Given the description of an element on the screen output the (x, y) to click on. 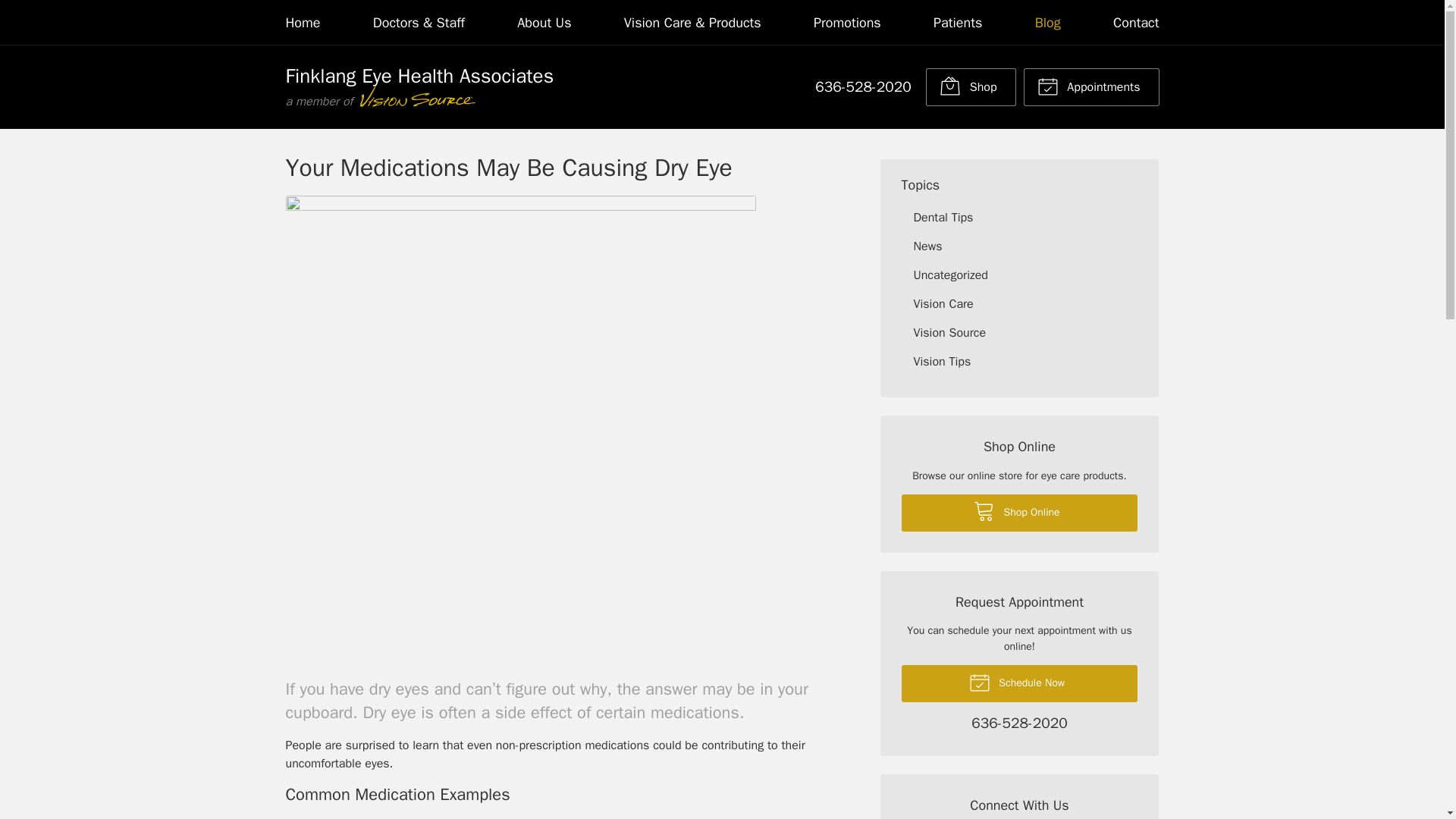
Uncategorized (1019, 275)
About Us (543, 22)
Schedule Now (1019, 683)
Contact (1135, 22)
Shop Online (971, 86)
Shop (971, 86)
Call practice (863, 86)
636-528-2020 (863, 86)
Call practice (1019, 724)
Promotions (846, 22)
Dental Tips (1019, 217)
Patients (957, 22)
Appointments (1090, 86)
Shop Online (1019, 512)
Home (302, 22)
